Given the description of an element on the screen output the (x, y) to click on. 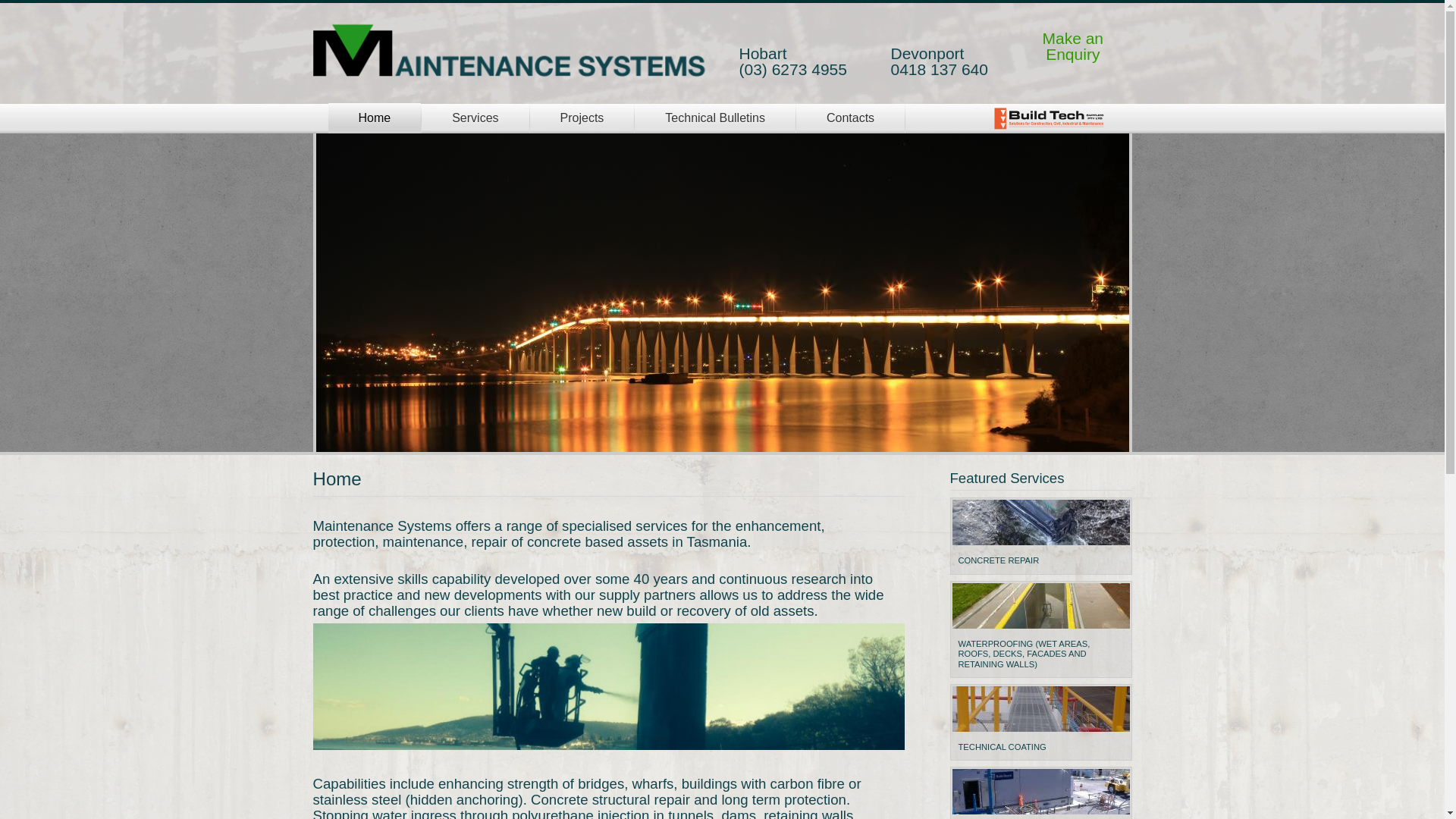
Home Element type: hover (509, 51)
Technical Bulletins Element type: text (714, 118)
Contacts Element type: text (850, 118)
Make an
Enquiry Element type: text (1072, 45)
Projects Element type: text (582, 118)
Home Element type: text (373, 118)
Services Element type: text (474, 118)
